Given the description of an element on the screen output the (x, y) to click on. 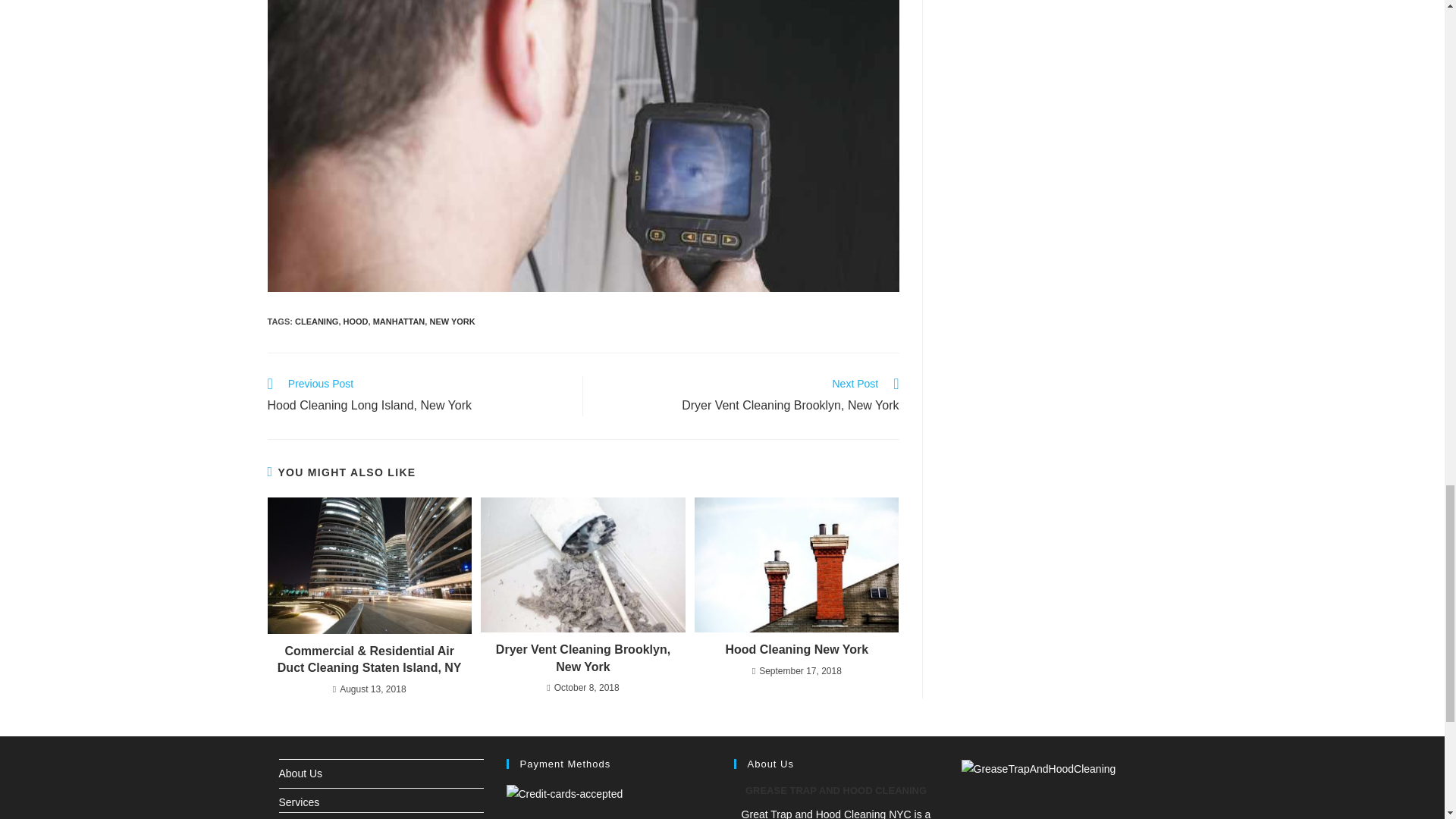
NEW YORK (451, 320)
Dryer Vent Cleaning Brooklyn, New York (416, 395)
Hood Cleaning New York (582, 658)
MANHATTAN (796, 649)
HOOD (398, 320)
CLEANING (355, 320)
